Given the description of an element on the screen output the (x, y) to click on. 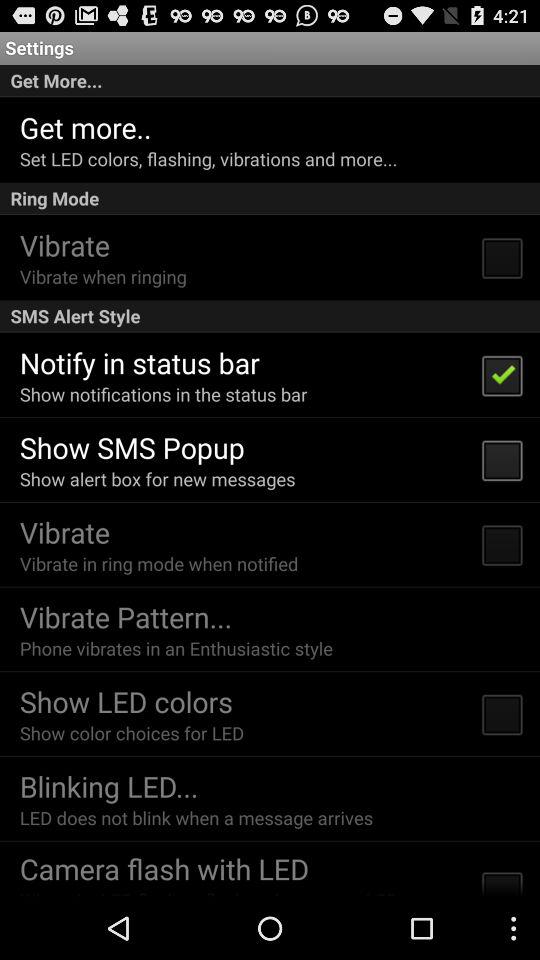
click the phone vibrates in icon (176, 648)
